Given the description of an element on the screen output the (x, y) to click on. 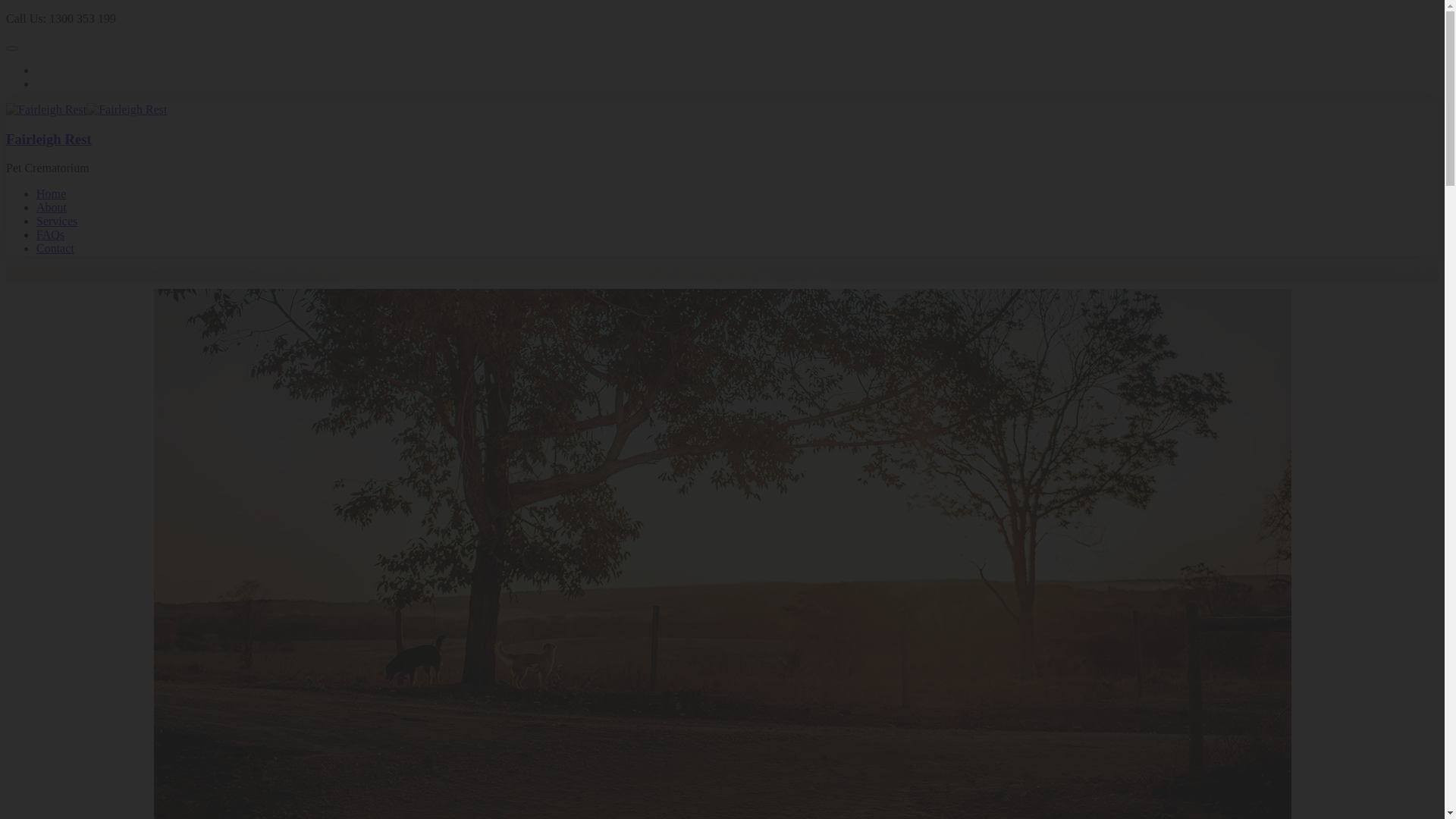
Fairleigh Rest Element type: text (48, 139)
Home Element type: text (50, 193)
Services Element type: text (56, 220)
Contact Element type: text (55, 247)
FAQs Element type: text (50, 234)
About Element type: text (51, 206)
